Given the description of an element on the screen output the (x, y) to click on. 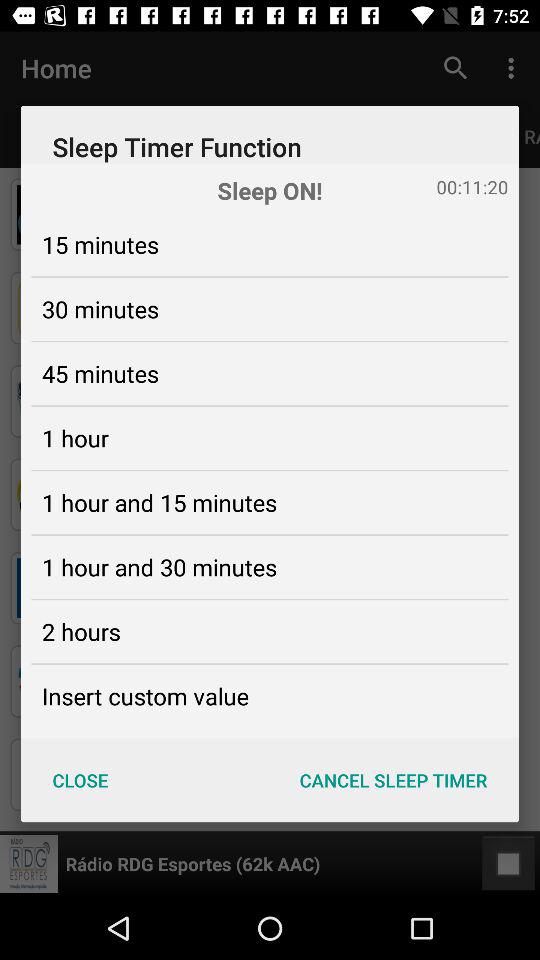
choose close item (80, 779)
